Given the description of an element on the screen output the (x, y) to click on. 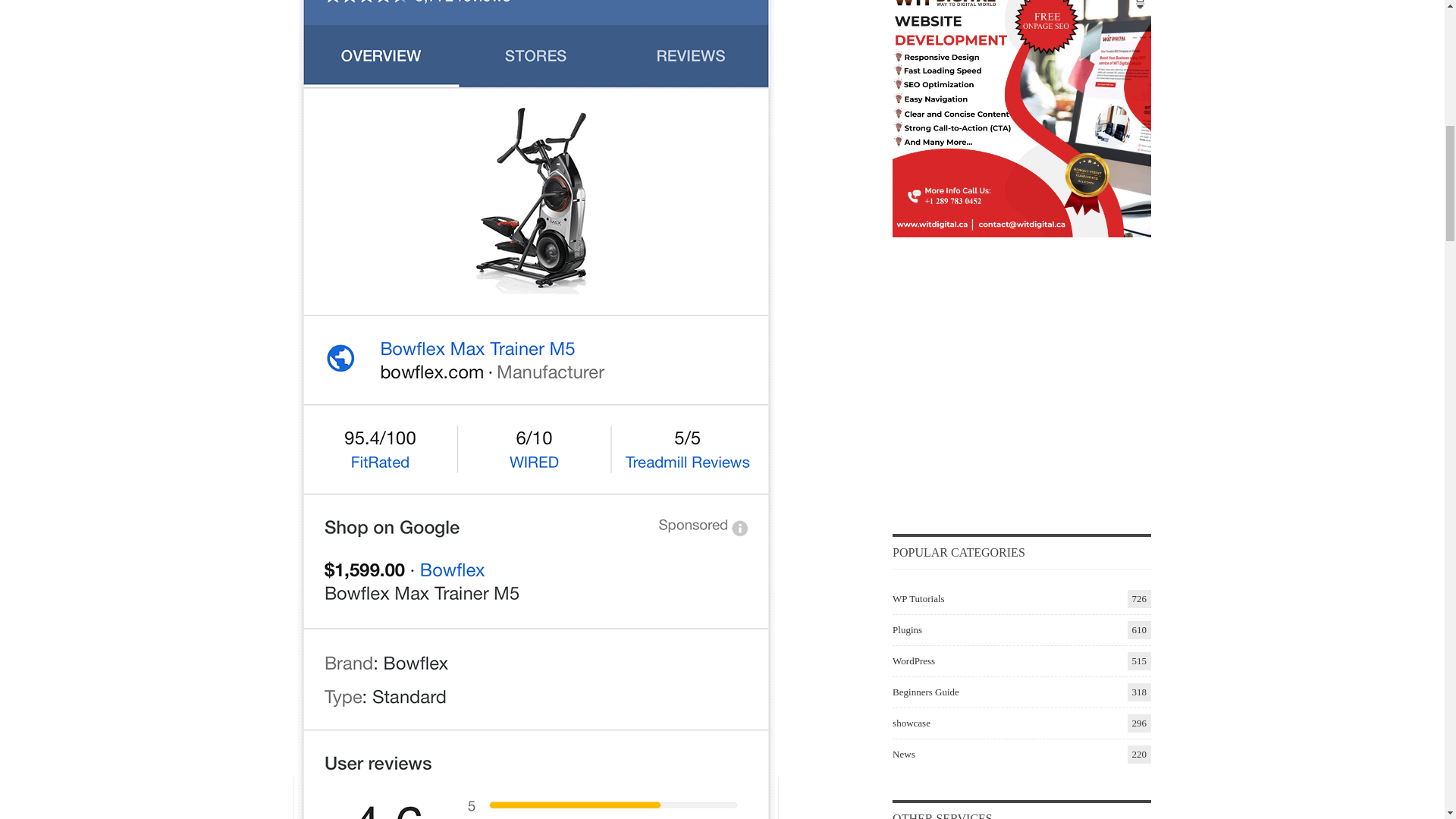
Advertisement (1021, 391)
